Given the description of an element on the screen output the (x, y) to click on. 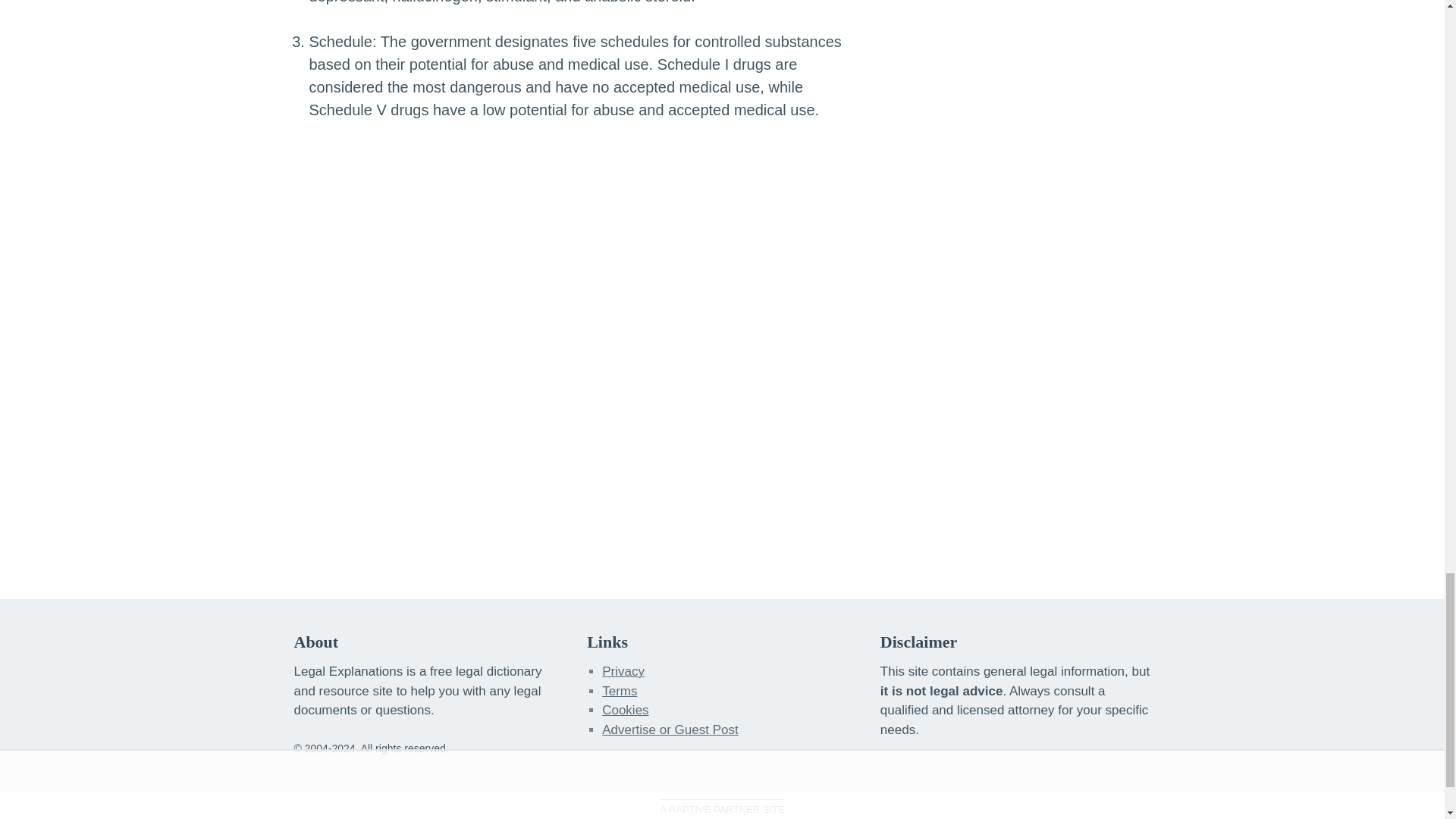
Privacy (623, 671)
Cookies (624, 709)
Advertise or Guest Post (670, 729)
Terms (619, 690)
